Given the description of an element on the screen output the (x, y) to click on. 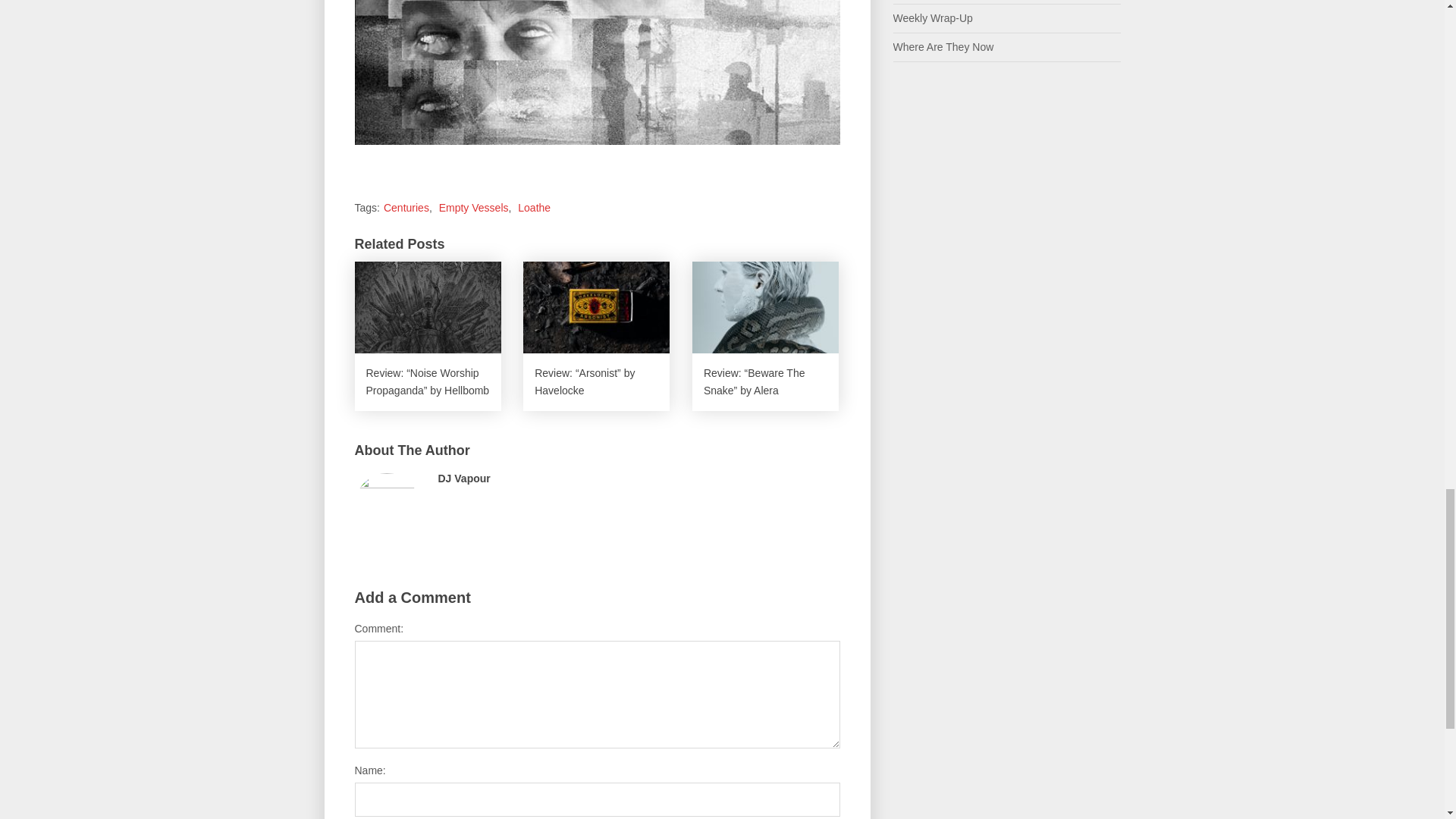
Empty Vessels (473, 207)
Loathe (534, 207)
Centuries (406, 207)
